Given the description of an element on the screen output the (x, y) to click on. 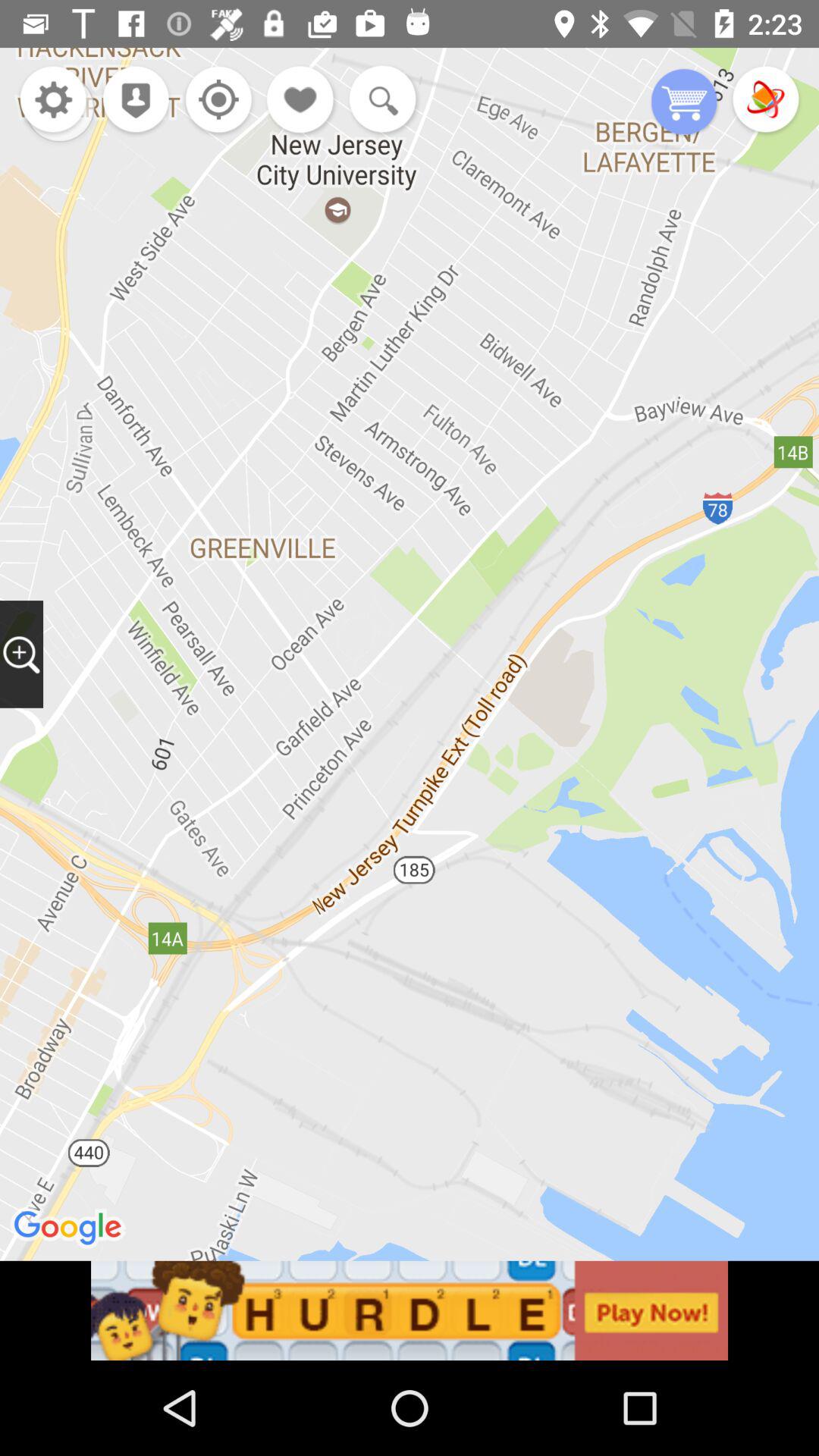
go to settins (52, 100)
